Given the description of an element on the screen output the (x, y) to click on. 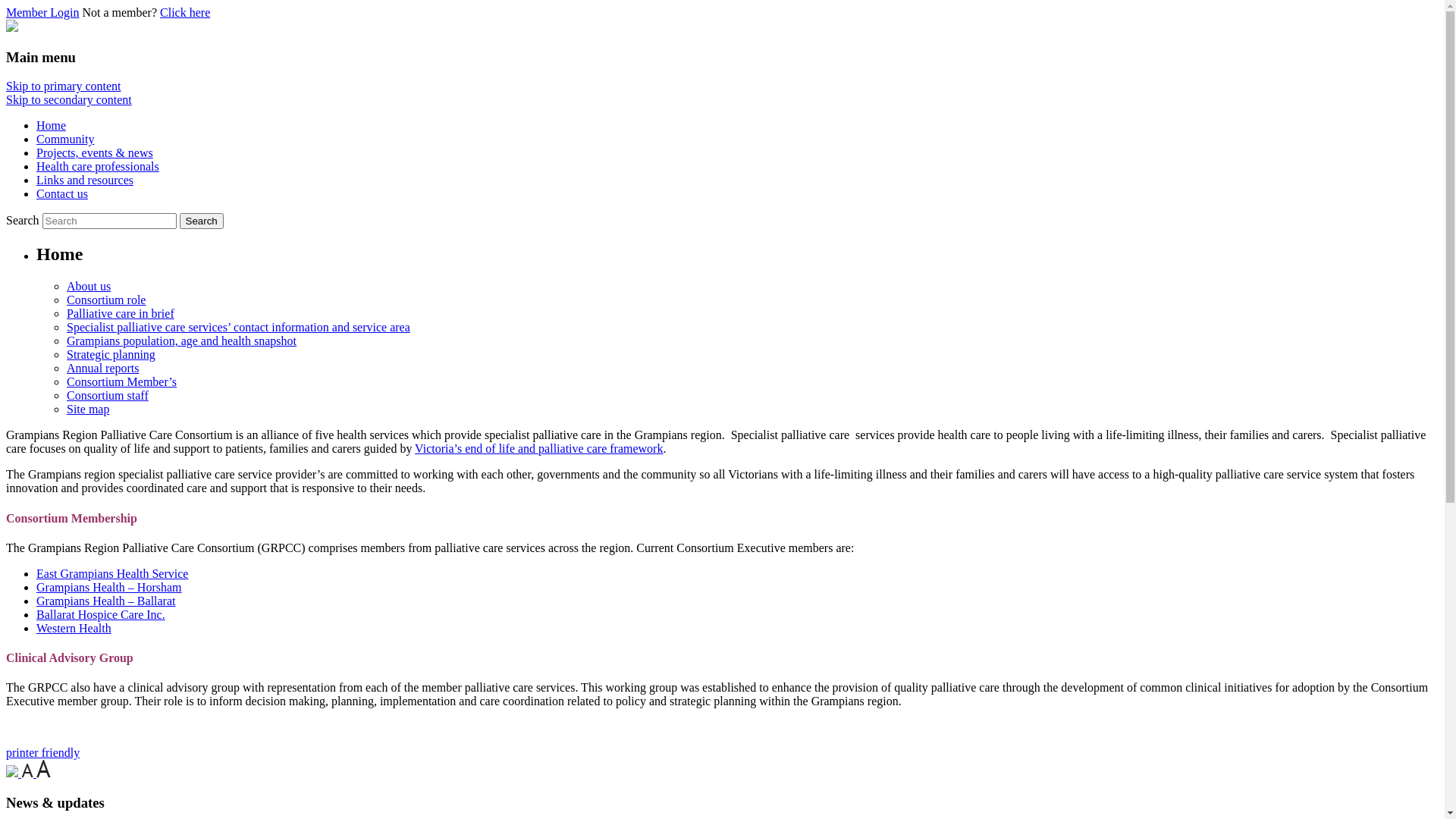
Ballarat Hospice Care Inc. Element type: text (100, 614)
Links and resources Element type: text (84, 179)
Member Login Element type: text (42, 12)
Click here Element type: text (185, 12)
Annual reports Element type: text (102, 367)
Community Element type: text (65, 138)
Palliative care in brief Element type: text (120, 313)
East Grampians Health Service Element type: text (112, 573)
Projects, events & news Element type: text (94, 152)
Site map Element type: text (87, 408)
Health care professionals Element type: text (97, 166)
Strategic planning Element type: text (110, 354)
About us Element type: text (88, 285)
Western Health Element type: text (73, 627)
printer friendly Element type: text (42, 752)
Skip to secondary content Element type: text (68, 99)
Grampians population, age and health snapshot Element type: text (181, 340)
Consortium staff Element type: text (107, 395)
Consortium role Element type: text (105, 299)
Contact us Element type: text (61, 193)
Home Element type: text (50, 125)
Search Element type: text (201, 221)
Skip to primary content Element type: text (63, 85)
